Given the description of an element on the screen output the (x, y) to click on. 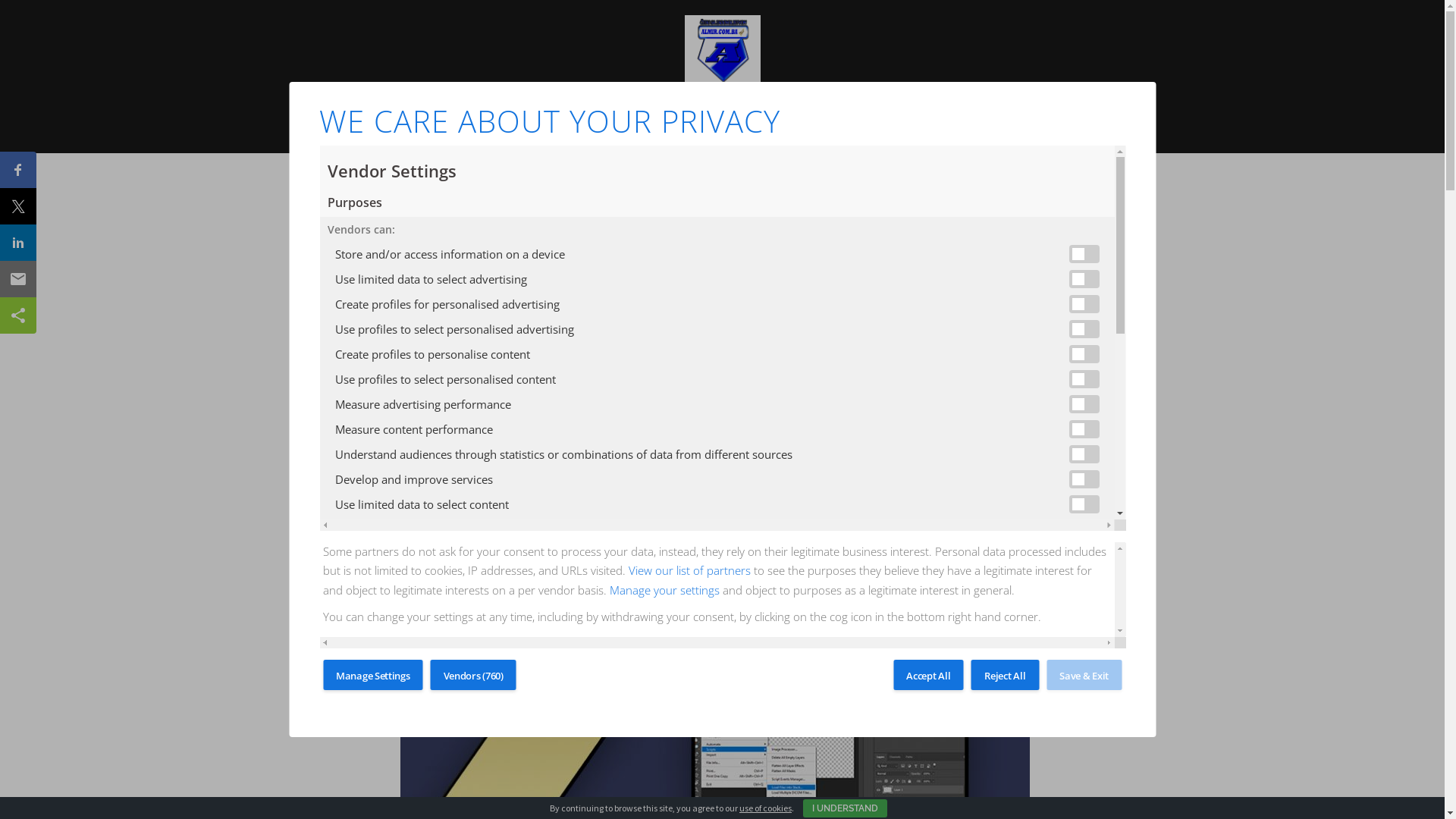
View our list of partners Element type: text (689, 569)
Naslovna Element type: text (546, 122)
Kontakt Element type: text (901, 122)
I UNDERSTAND Element type: text (845, 808)
Advertisement Element type: hover (722, 333)
Otvaranje fotografija u dokumentu Photoshopa Element type: hover (714, 705)
Ambicije Element type: text (724, 122)
Manage your settings Element type: text (664, 589)
Doprinos zajednici Element type: text (813, 122)
Skip to content Element type: text (0, 0)
use of cookies Element type: text (765, 807)
